Given the description of an element on the screen output the (x, y) to click on. 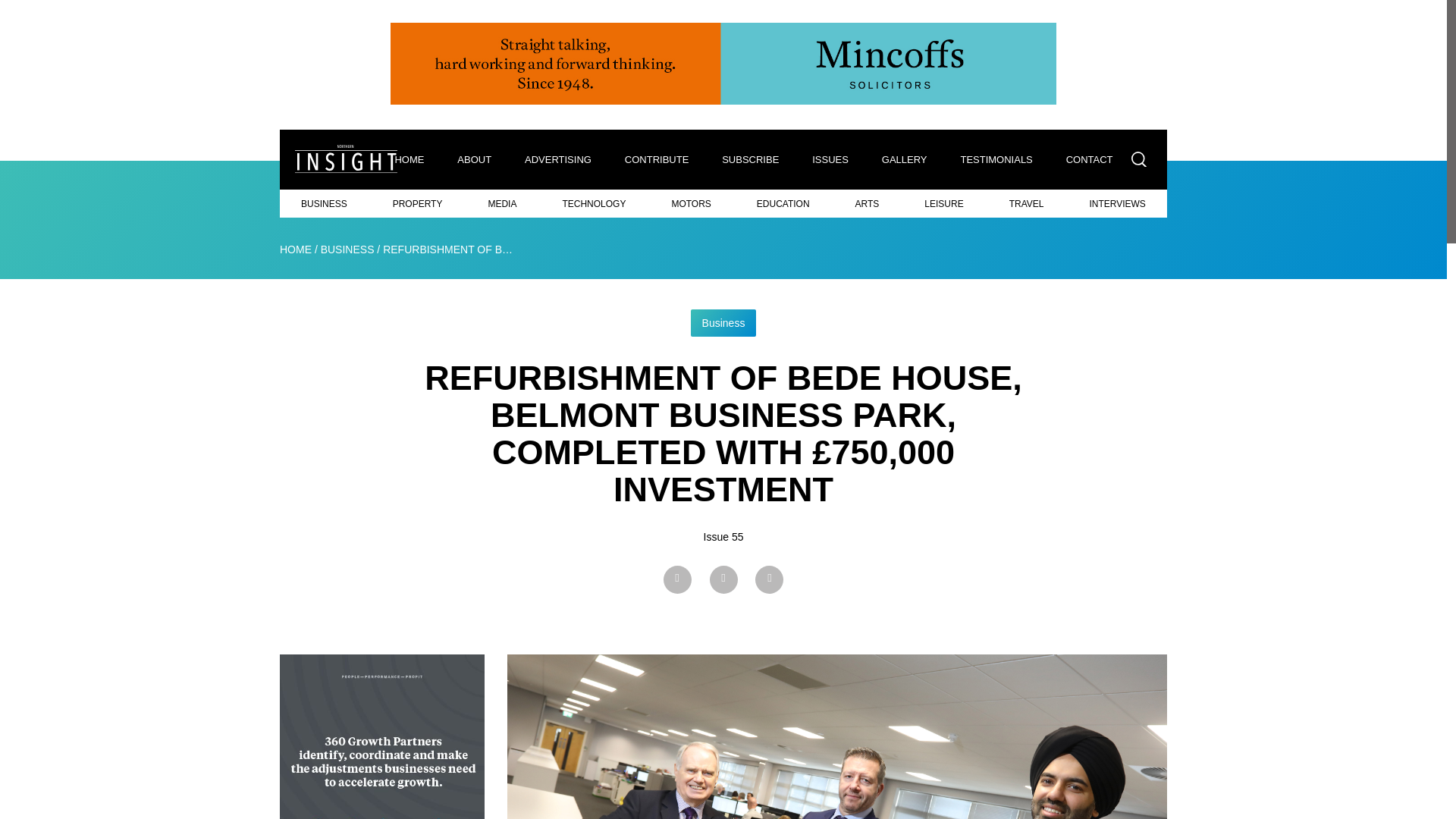
ISSUES (830, 159)
BUSINESS (324, 203)
ADVERTISING (557, 159)
HOME (295, 249)
LEISURE (943, 203)
TECHNOLOGY (594, 203)
CONTRIBUTE (656, 159)
EDUCATION (783, 203)
HOME (408, 159)
TRAVEL (1026, 203)
CONTACT (1089, 159)
INTERVIEWS (1116, 203)
SUBSCRIBE (750, 159)
MOTORS (690, 203)
TESTIMONIALS (996, 159)
